Given the description of an element on the screen output the (x, y) to click on. 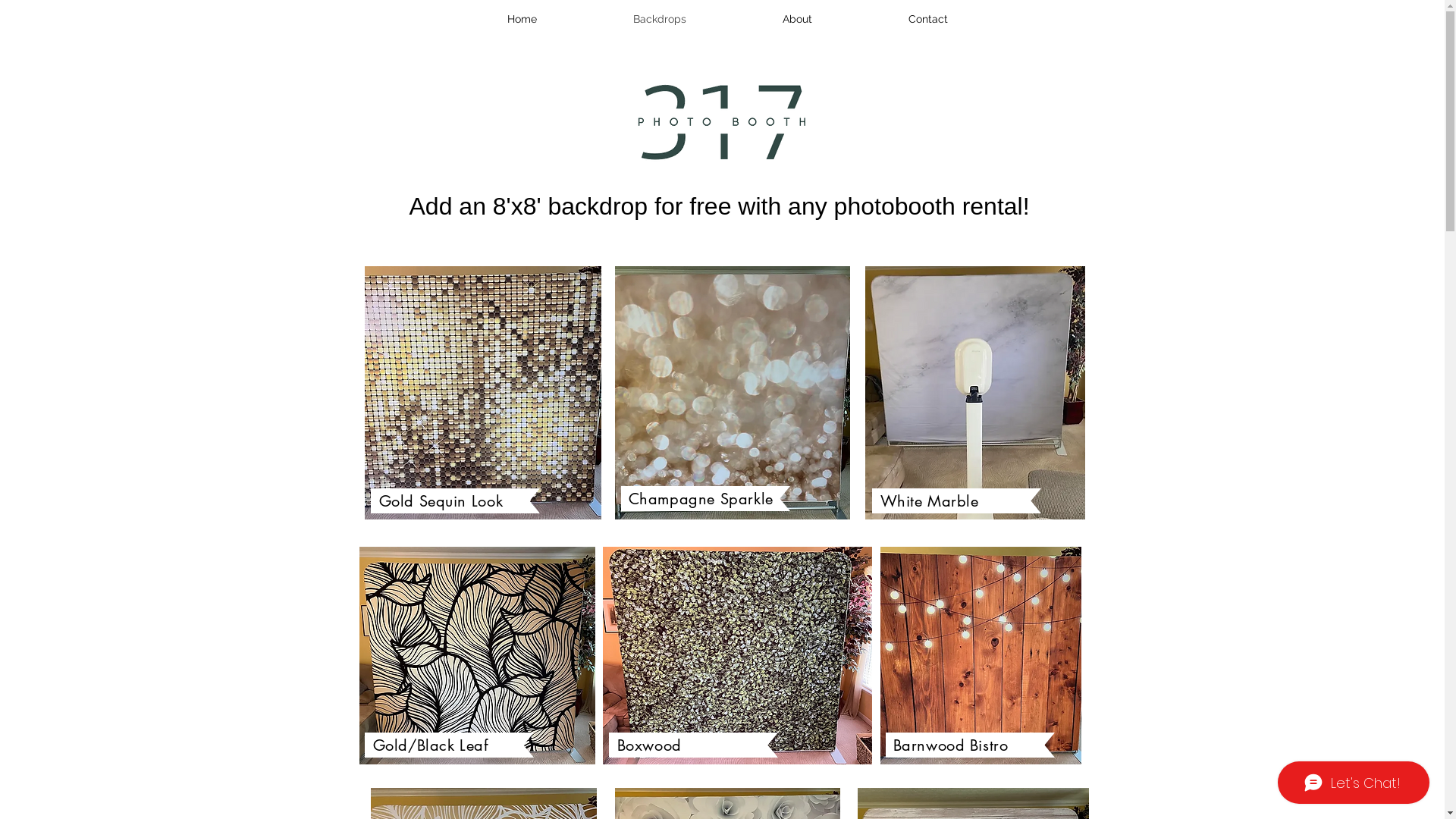
Home Element type: text (522, 18)
About Element type: text (796, 18)
Contact Element type: text (927, 18)
Backdrops Element type: text (659, 18)
Photobooth White marble.png Element type: hover (974, 392)
